Given the description of an element on the screen output the (x, y) to click on. 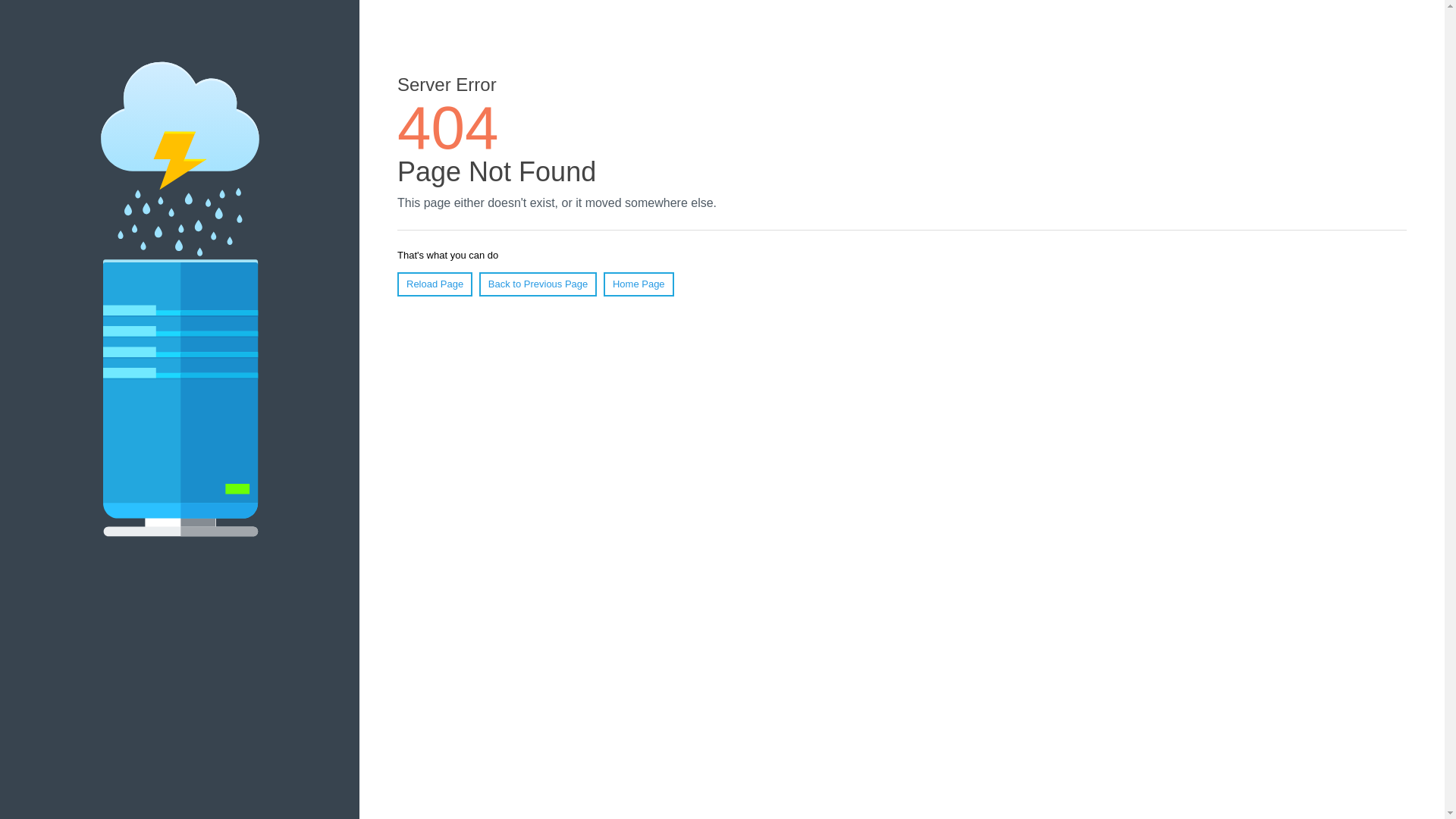
Home Page Element type: text (638, 284)
Reload Page Element type: text (434, 284)
Back to Previous Page Element type: text (538, 284)
